Given the description of an element on the screen output the (x, y) to click on. 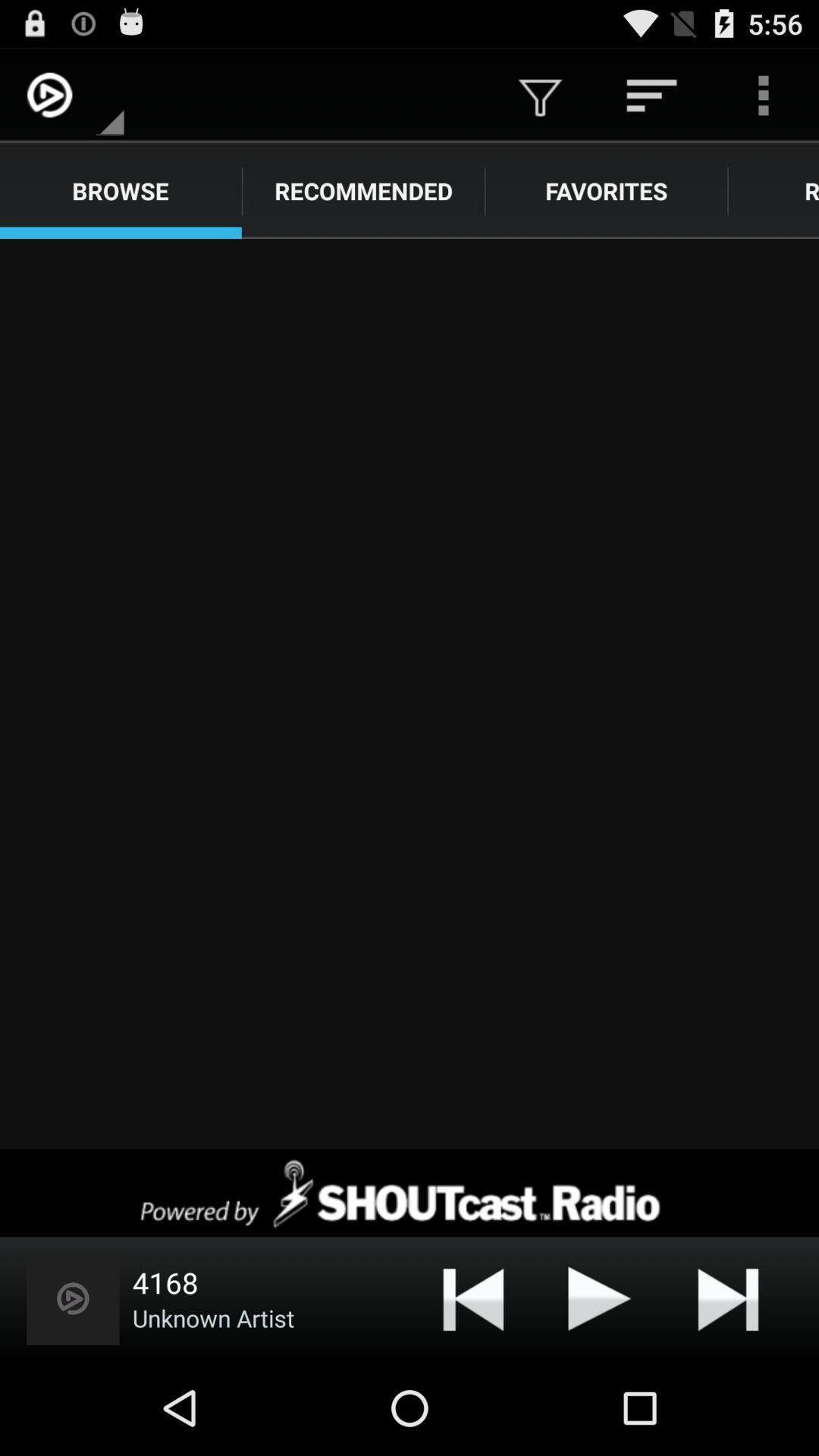
previous music (472, 1298)
